Given the description of an element on the screen output the (x, y) to click on. 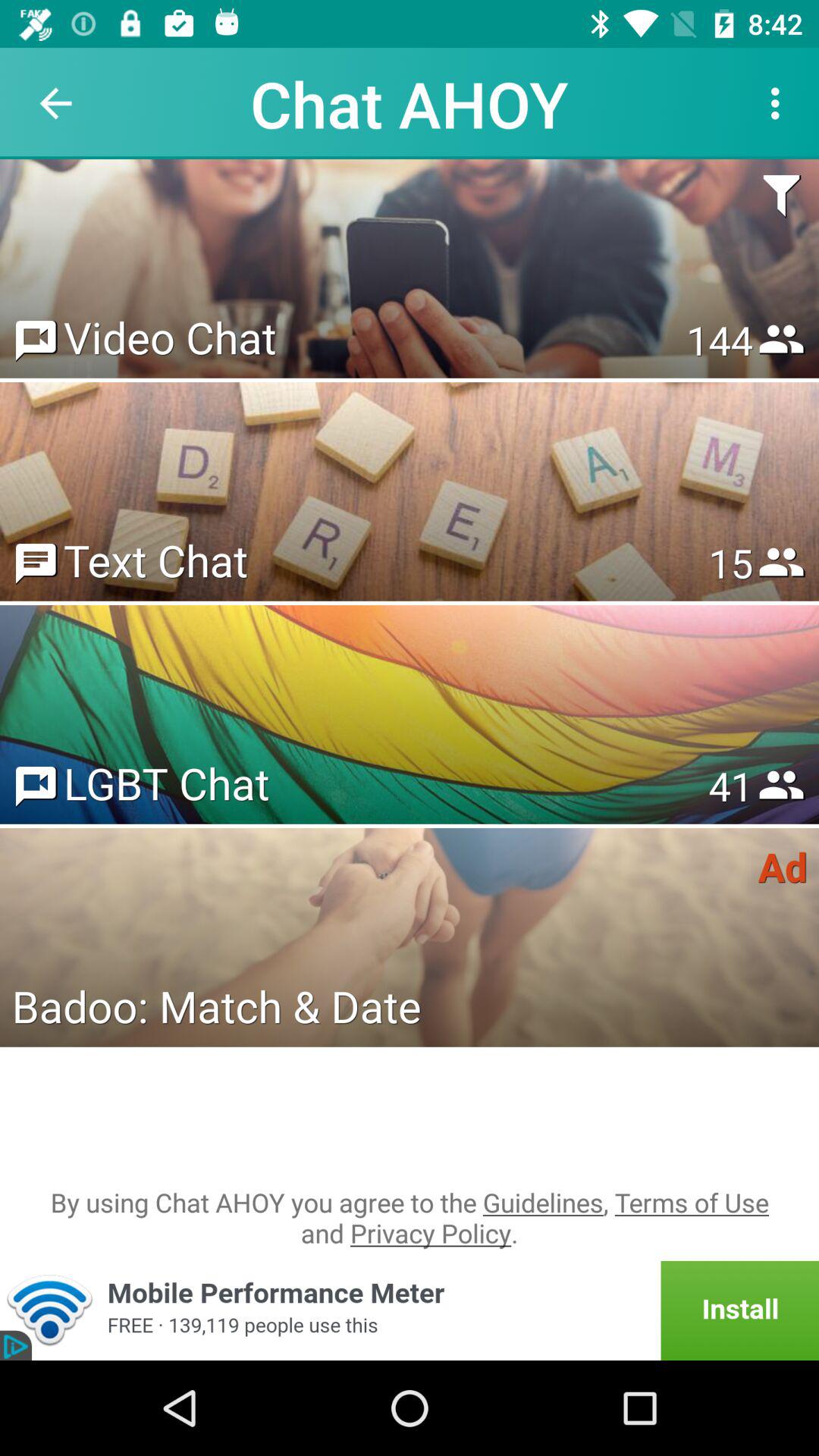
press icon to the left of 15 item (155, 559)
